Given the description of an element on the screen output the (x, y) to click on. 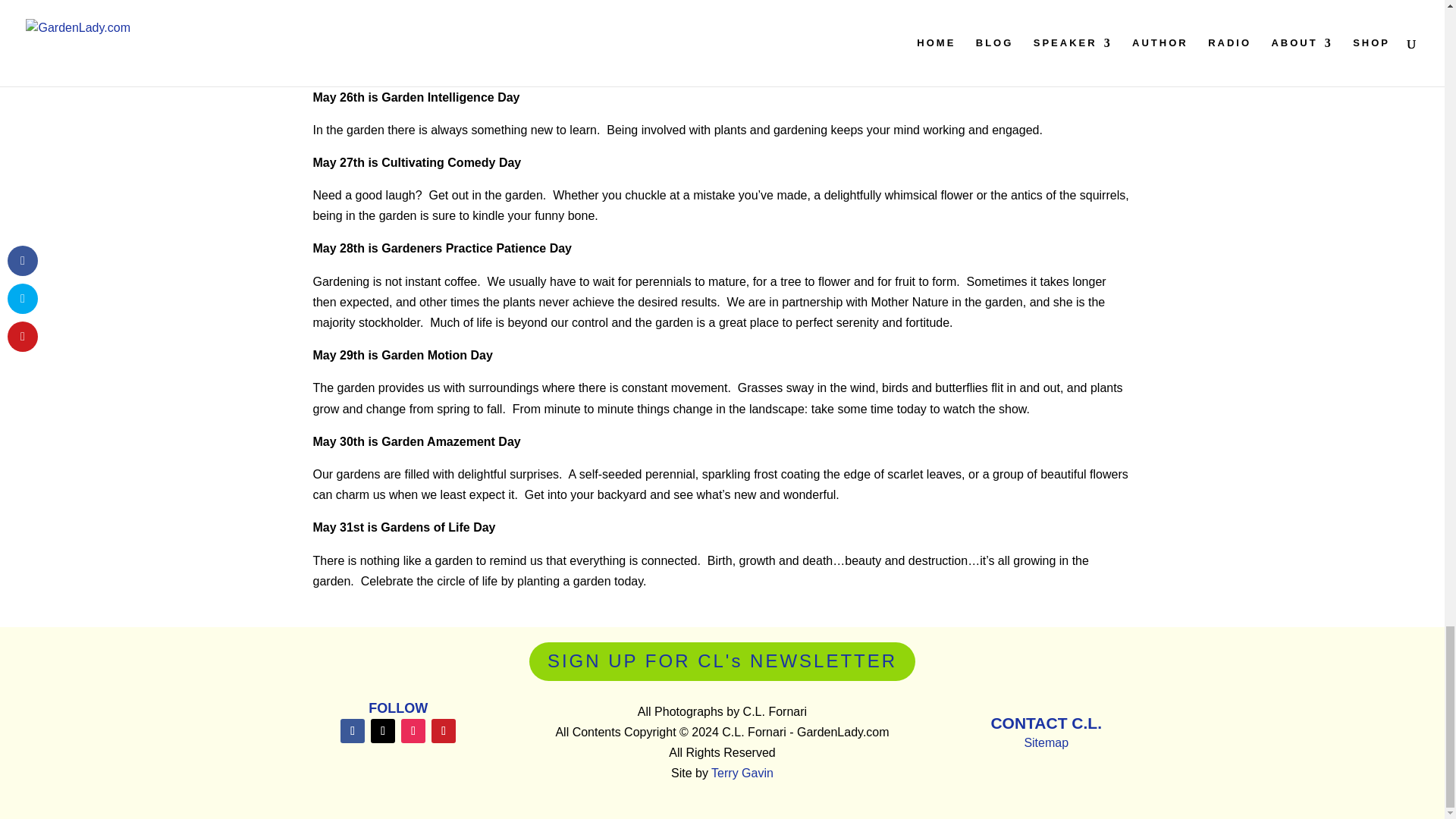
Terry Gavin (742, 772)
Follow on Pinterest (442, 730)
Sitemap (1045, 742)
CONTACT C.L. (1046, 723)
TerryGavinSolutions.com (742, 772)
Follow on X (382, 730)
Follow on Instagram (413, 730)
Follow on Facebook (352, 730)
SIGN UP FOR CL's NEWSLETTER (722, 661)
